Given the description of an element on the screen output the (x, y) to click on. 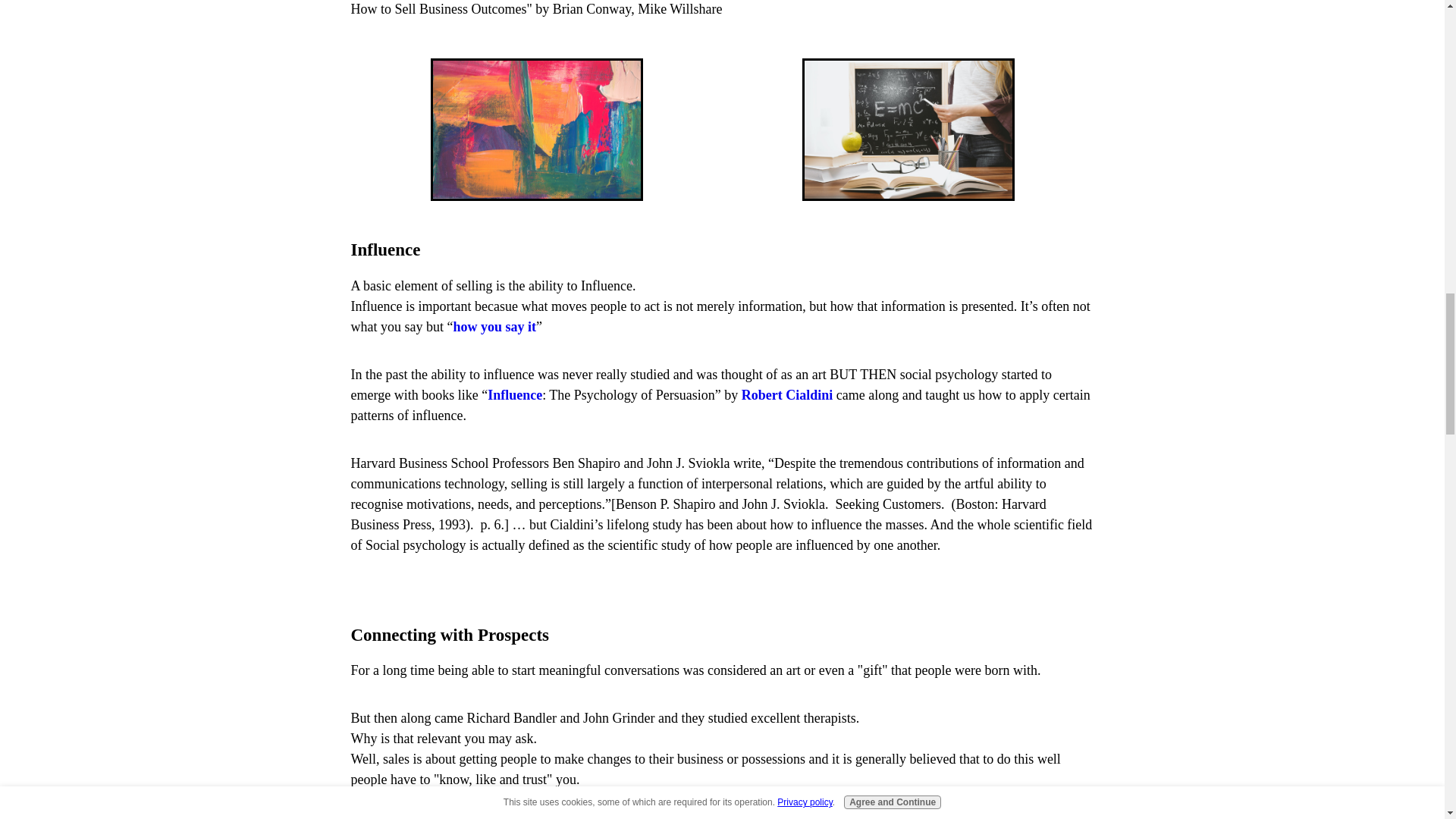
Influence (514, 394)
how you say it (493, 326)
Robert Cialdini (786, 394)
